Given the description of an element on the screen output the (x, y) to click on. 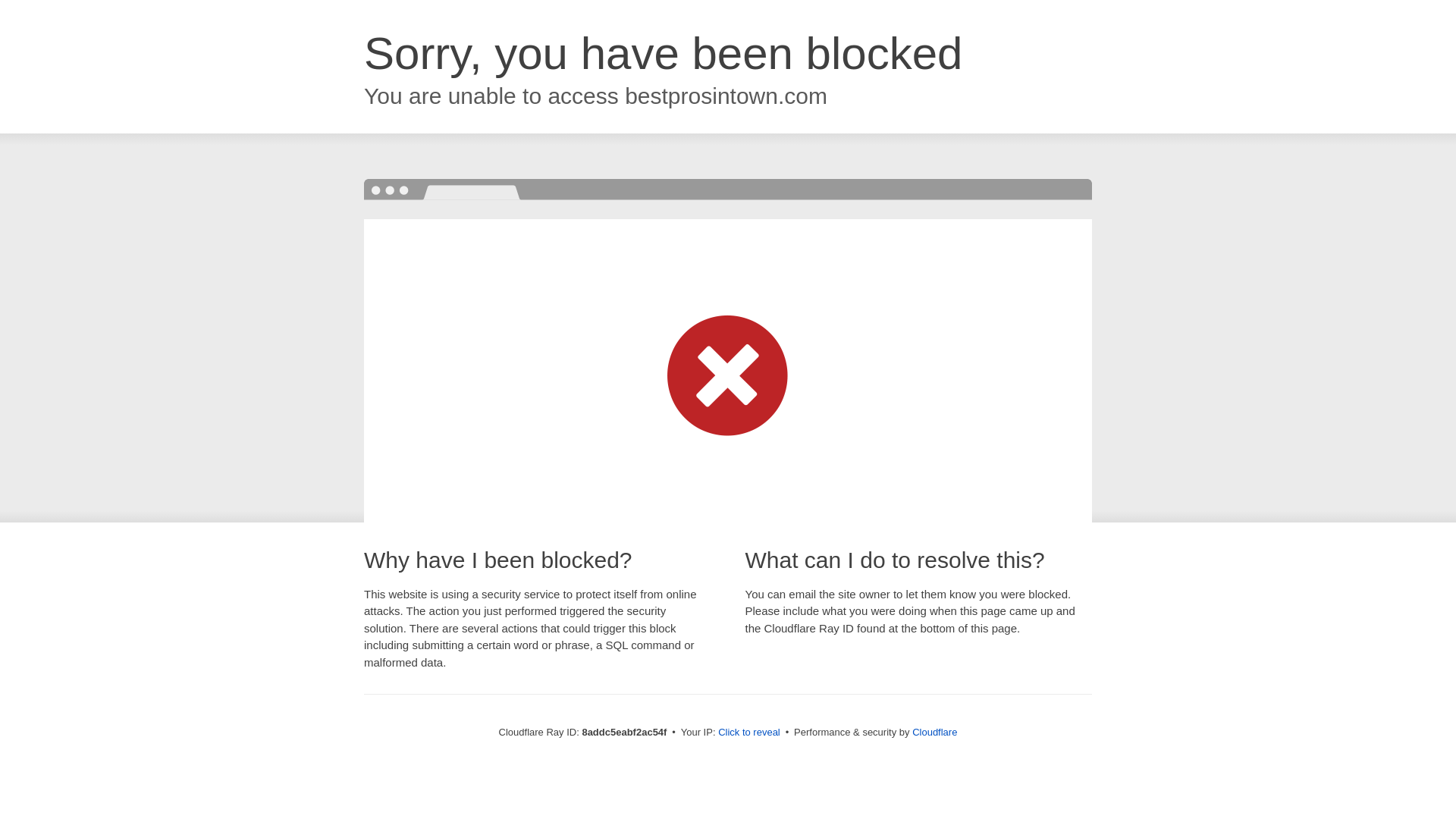
Cloudflare (934, 731)
Click to reveal (748, 732)
